Given the description of an element on the screen output the (x, y) to click on. 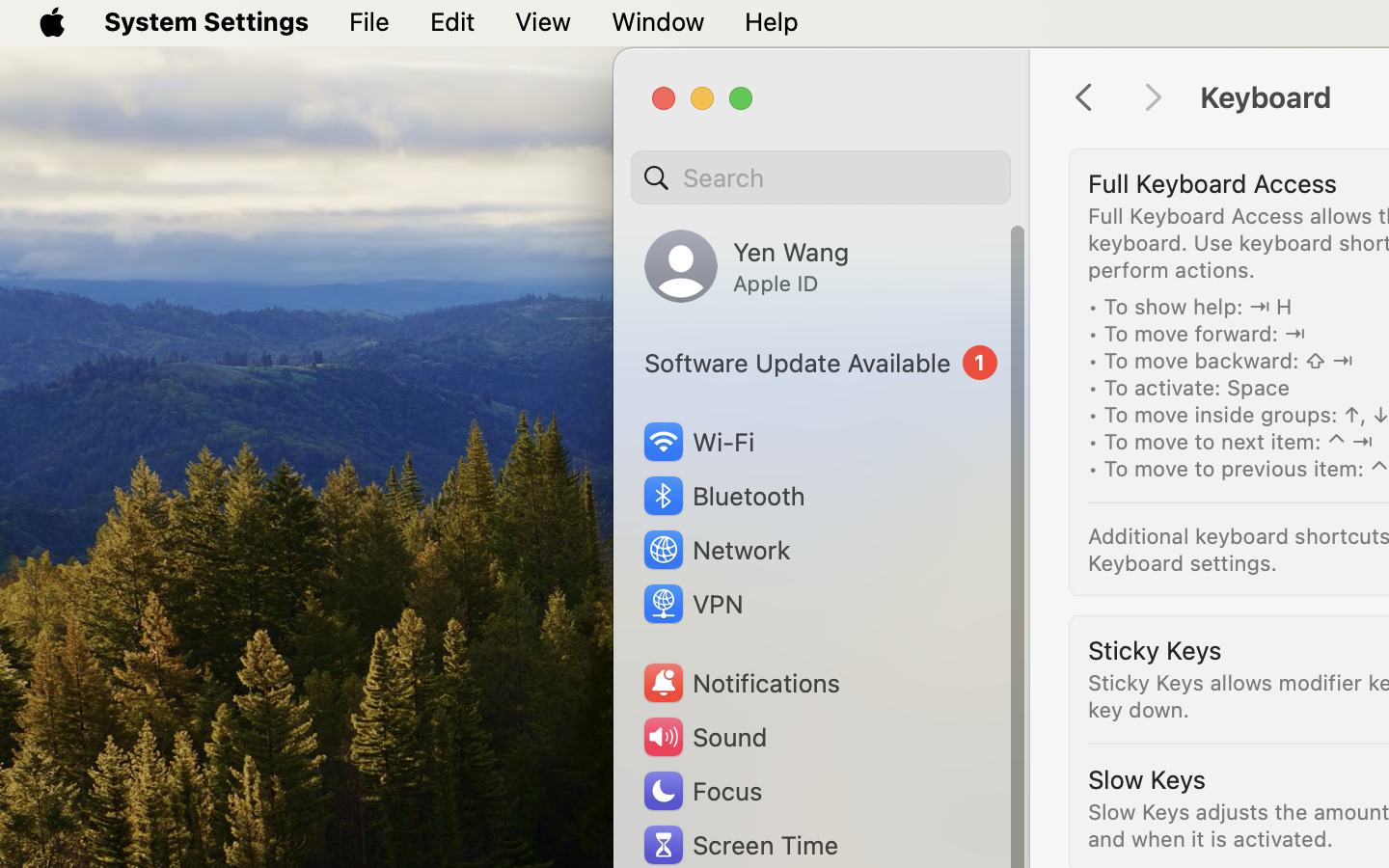
Bluetooth Element type: AXStaticText (723, 495)
Full Keyboard Access Element type: AXStaticText (1212, 182)
Notifications Element type: AXStaticText (740, 682)
